Given the description of an element on the screen output the (x, y) to click on. 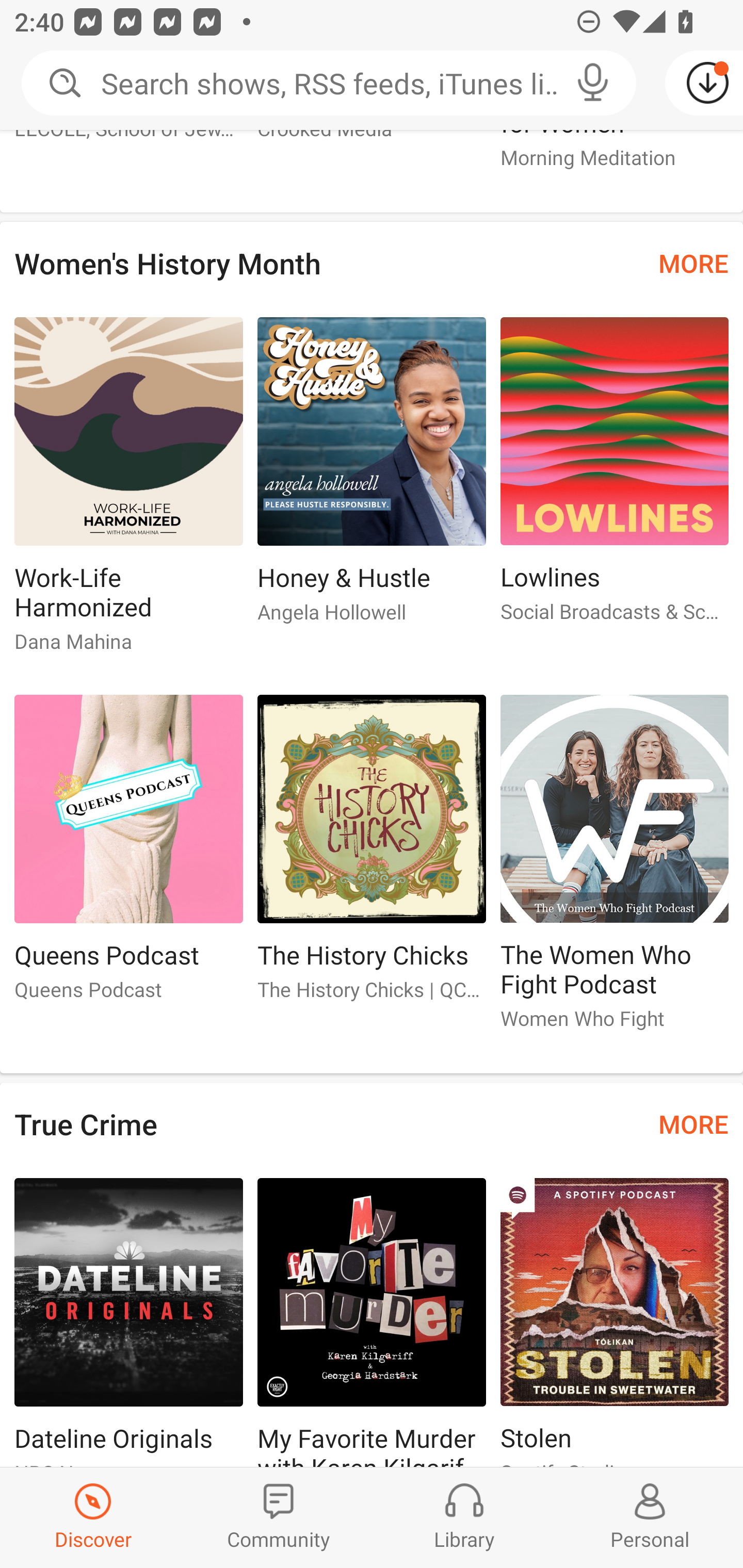
MORE (693, 263)
Honey & Hustle Honey & Hustle Angela Hollowell (371, 477)
Queens Podcast Queens Podcast Queens Podcast (128, 855)
MORE (693, 1123)
Dateline Originals Dateline Originals NBC News (128, 1322)
Stolen Stolen Spotify Studios (614, 1322)
Discover (92, 1517)
Community (278, 1517)
Library (464, 1517)
Profiles and Settings Personal (650, 1517)
